Given the description of an element on the screen output the (x, y) to click on. 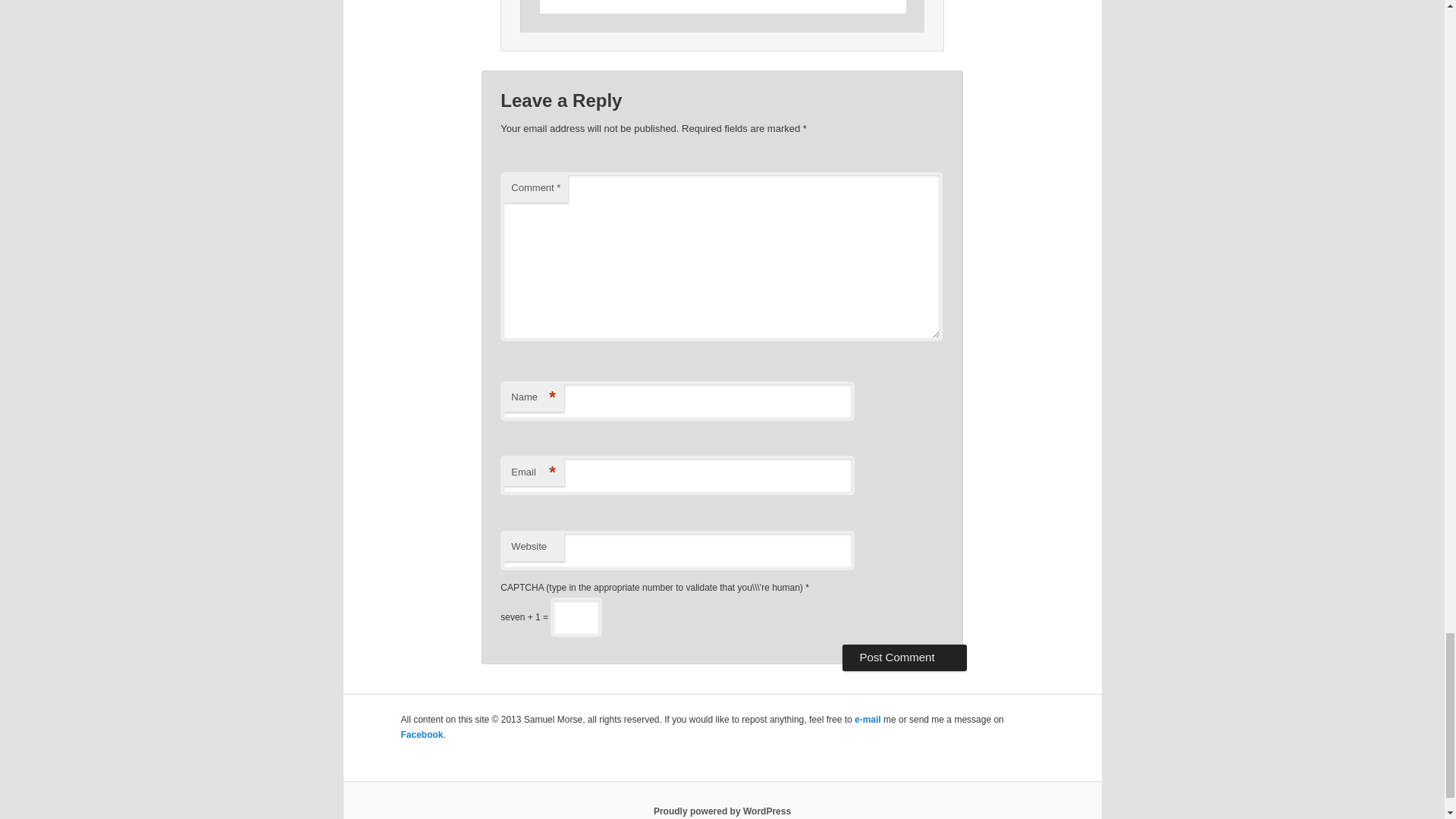
Semantic Personal Publishing Platform (721, 810)
Post Comment (904, 657)
